Given the description of an element on the screen output the (x, y) to click on. 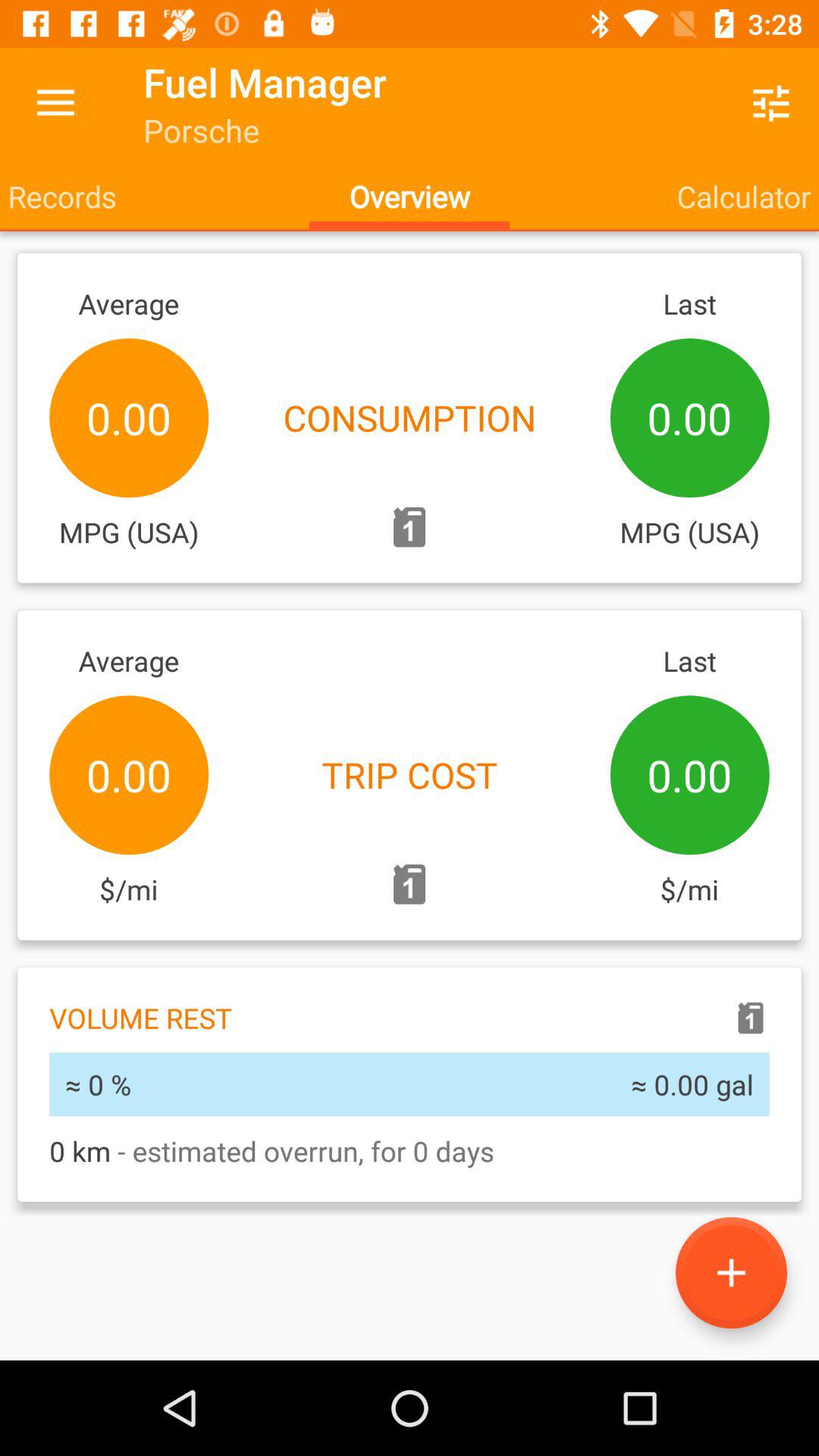
press the icon next to fuel manager icon (771, 103)
